Given the description of an element on the screen output the (x, y) to click on. 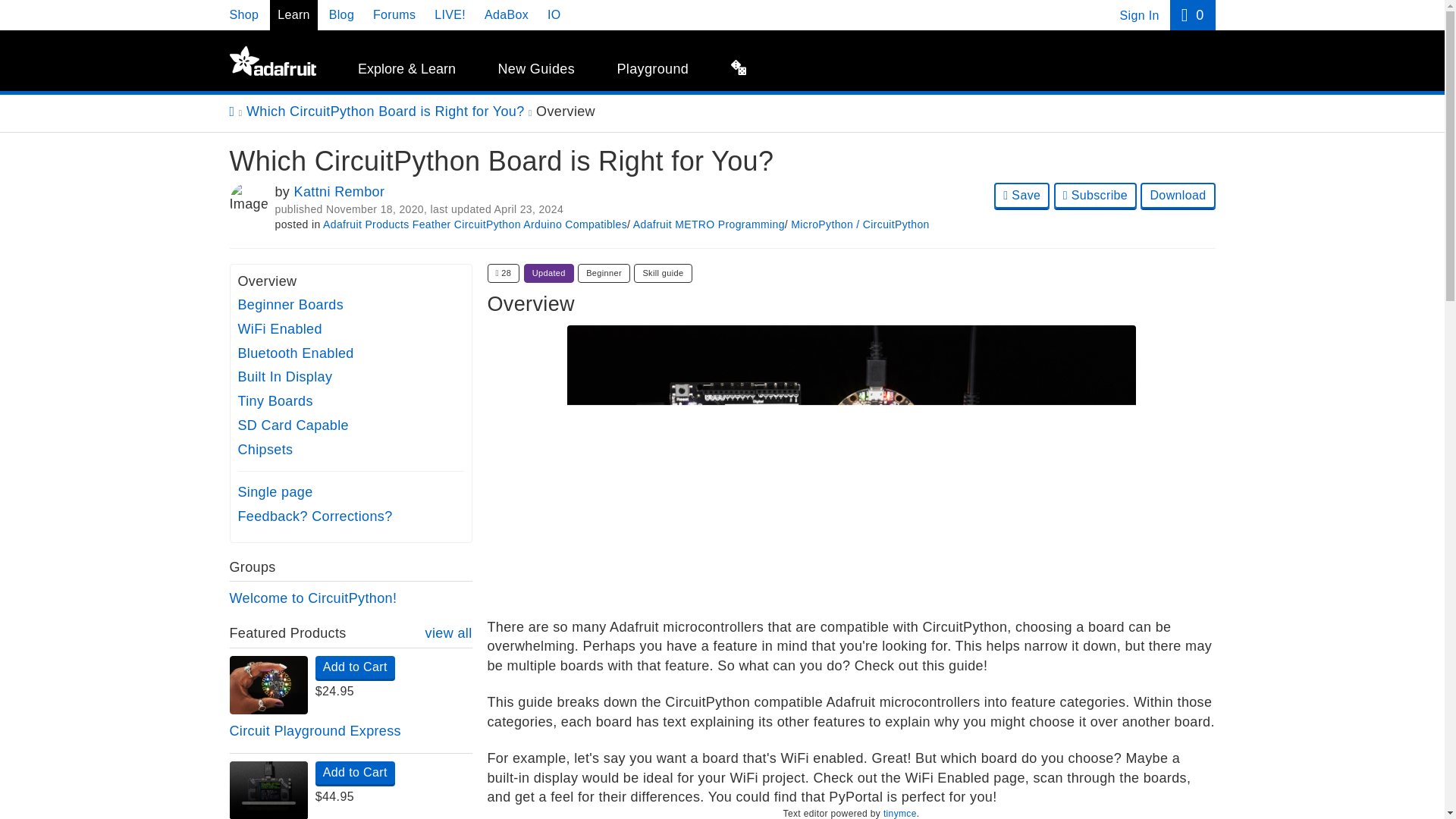
Forums (393, 14)
Skill Level (604, 272)
Saves (502, 272)
Blog (341, 14)
IO (553, 14)
Shop (243, 14)
LIVE! (449, 14)
AdaBox (506, 14)
Guide Type (662, 272)
Adafruit Learning System (271, 60)
